Given the description of an element on the screen output the (x, y) to click on. 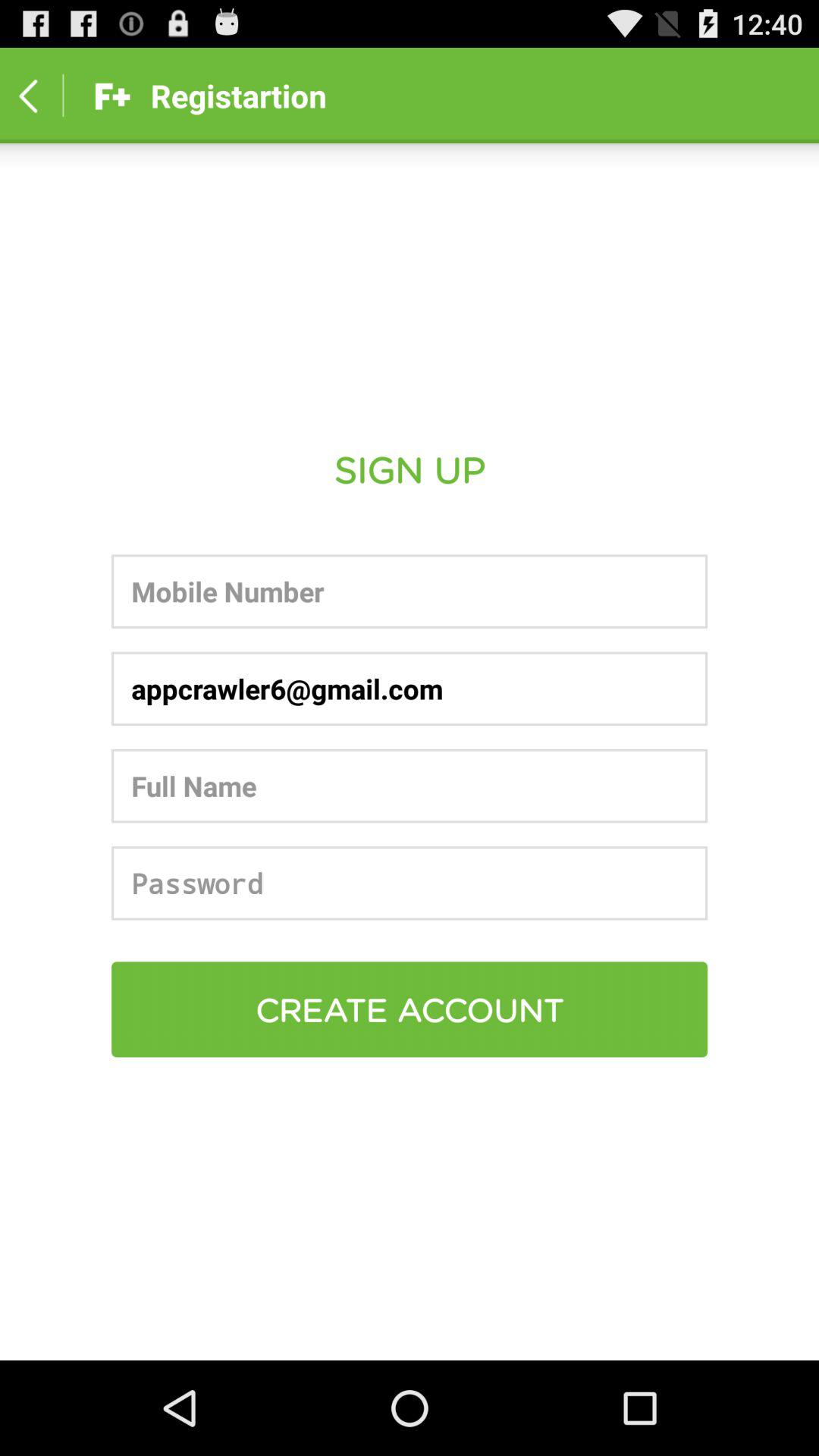
full name input field (409, 785)
